Given the description of an element on the screen output the (x, y) to click on. 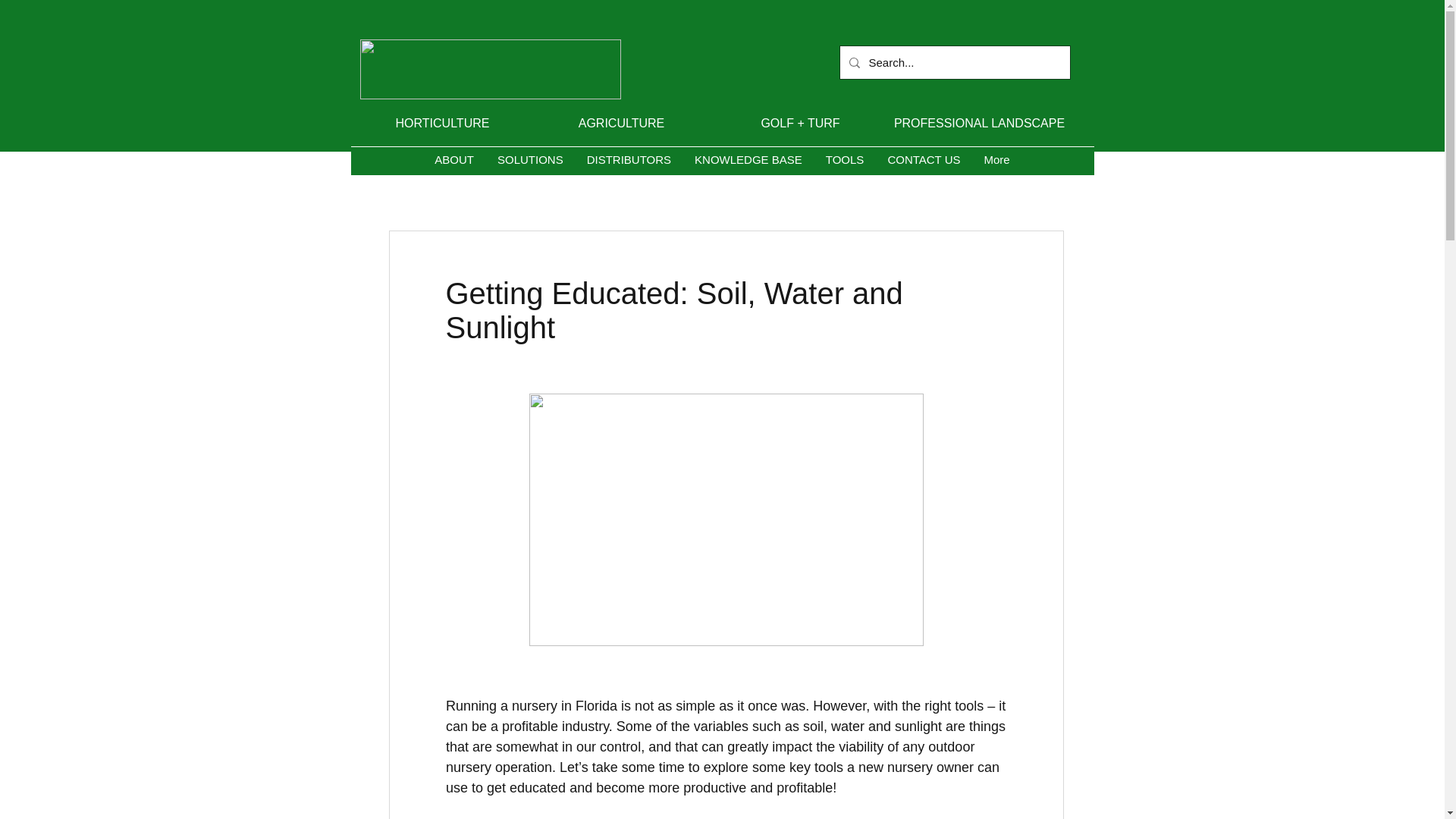
CONTACT US (923, 163)
AGRICULTURE (621, 123)
KNOWLEDGE BASE (747, 163)
TOOLS (844, 163)
DISTRIBUTORS (628, 163)
ABOUT (453, 163)
PROFESSIONAL LANDSCAPE (978, 123)
HORTICULTURE (442, 123)
